Given the description of an element on the screen output the (x, y) to click on. 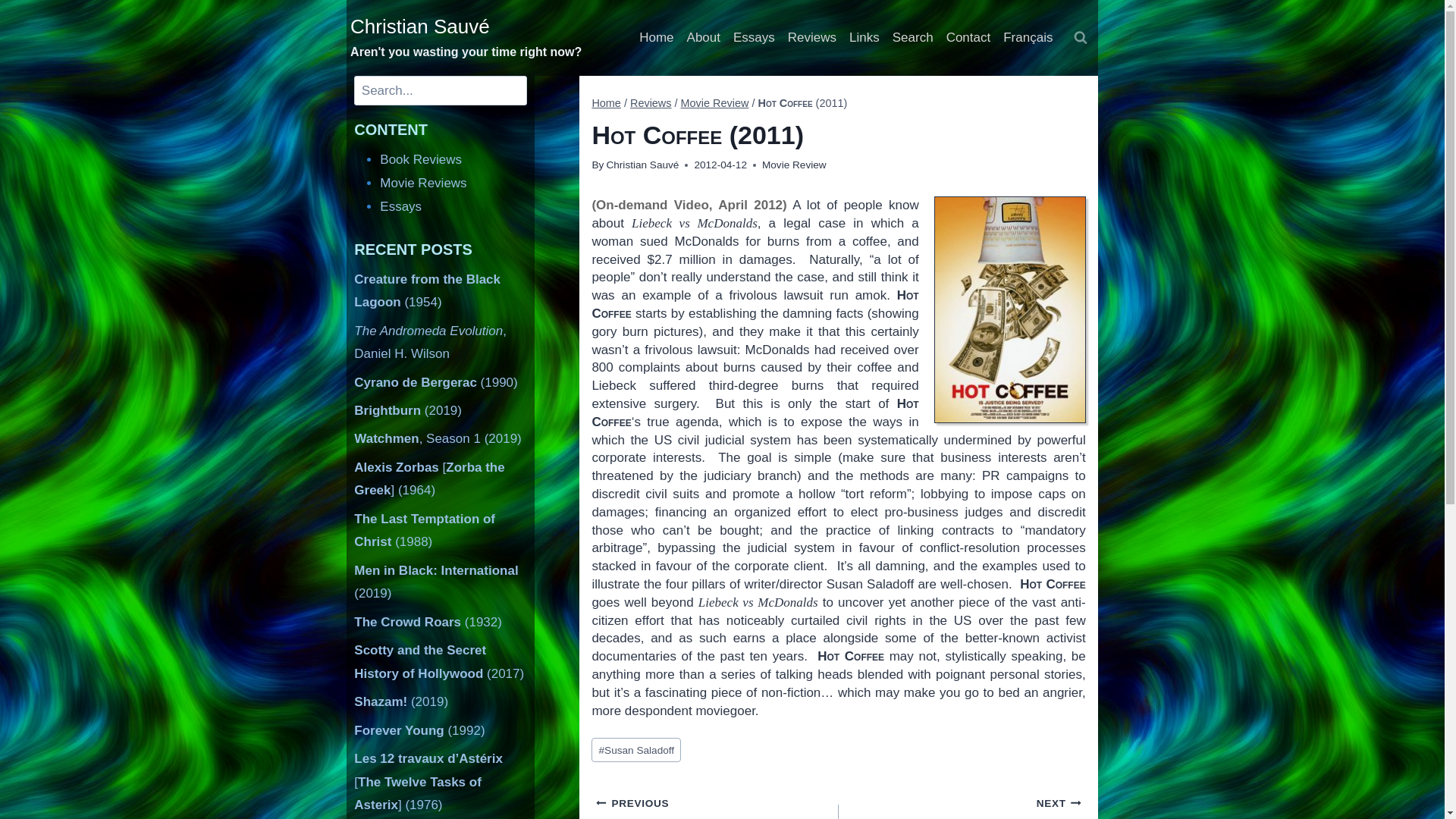
Search (912, 38)
Movie Review (715, 102)
Reviews (650, 102)
Susan Saladoff (636, 749)
Contact (968, 38)
About (702, 38)
Home (606, 102)
Essays (401, 206)
Essays (753, 38)
Movie Review (794, 164)
Movie Reviews (422, 183)
Book Reviews (420, 159)
The Andromeda Evolution, Daniel H. Wilson (429, 342)
Home (656, 38)
Reviews (811, 38)
